Given the description of an element on the screen output the (x, y) to click on. 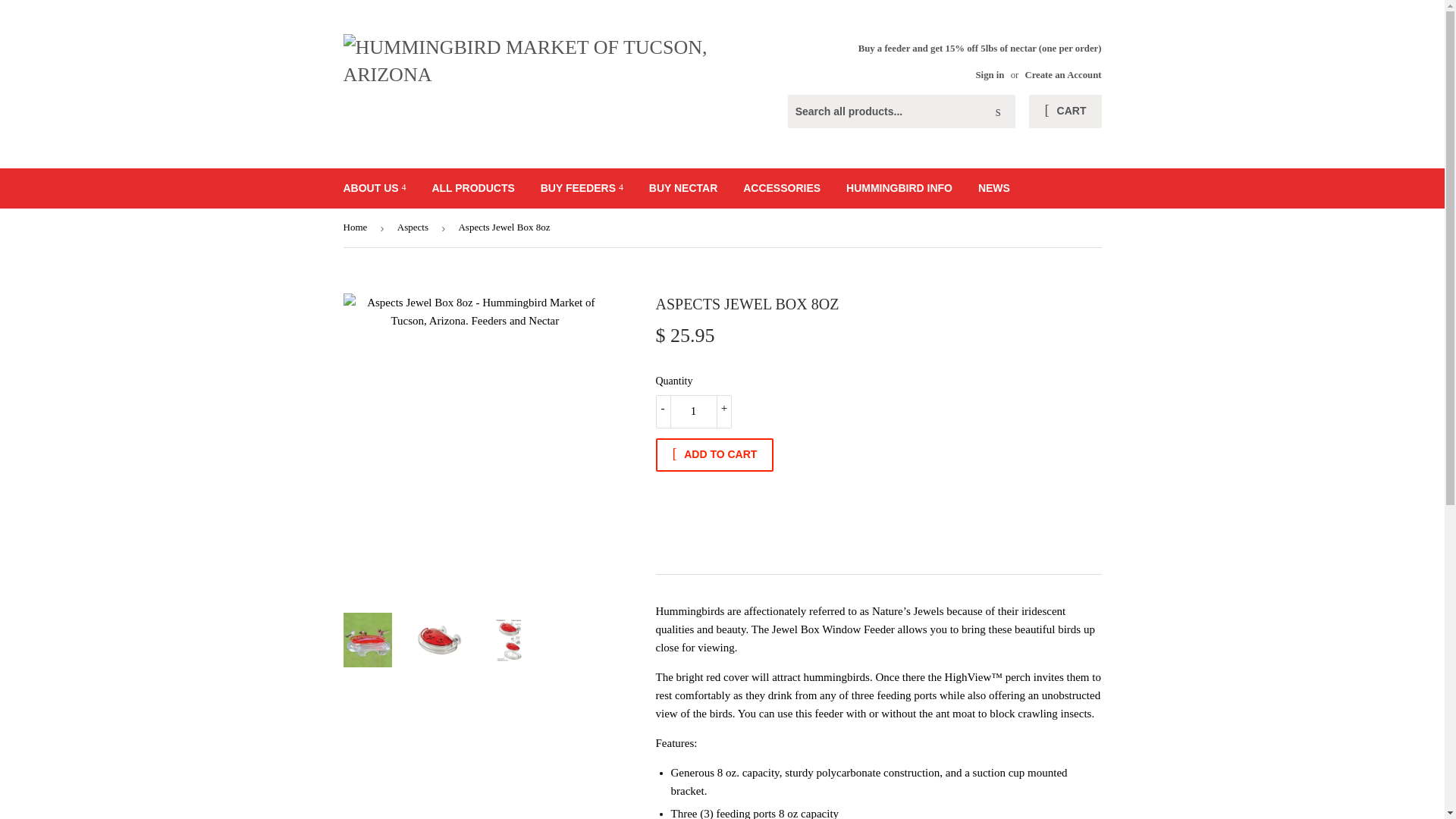
Search (997, 111)
Sign in (989, 74)
1 (692, 411)
Create an Account (1062, 74)
CART (1064, 111)
